Given the description of an element on the screen output the (x, y) to click on. 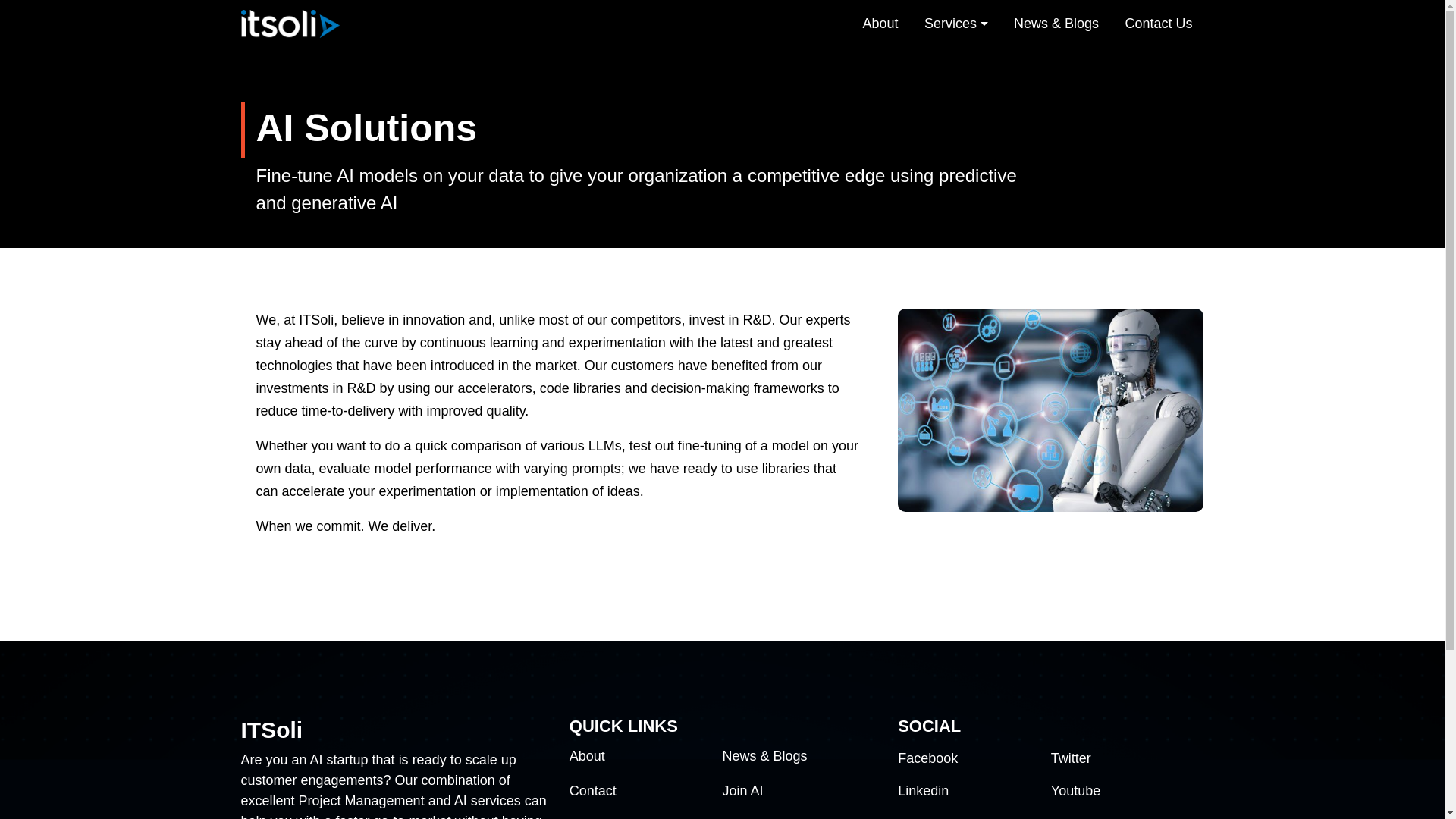
Services (955, 23)
About (587, 755)
Twitter (1070, 758)
Facebook (928, 758)
Linkedin (923, 790)
Contact Us (1158, 23)
About (879, 23)
Join AI (742, 790)
Contact (592, 790)
Youtube (1075, 790)
